Given the description of an element on the screen output the (x, y) to click on. 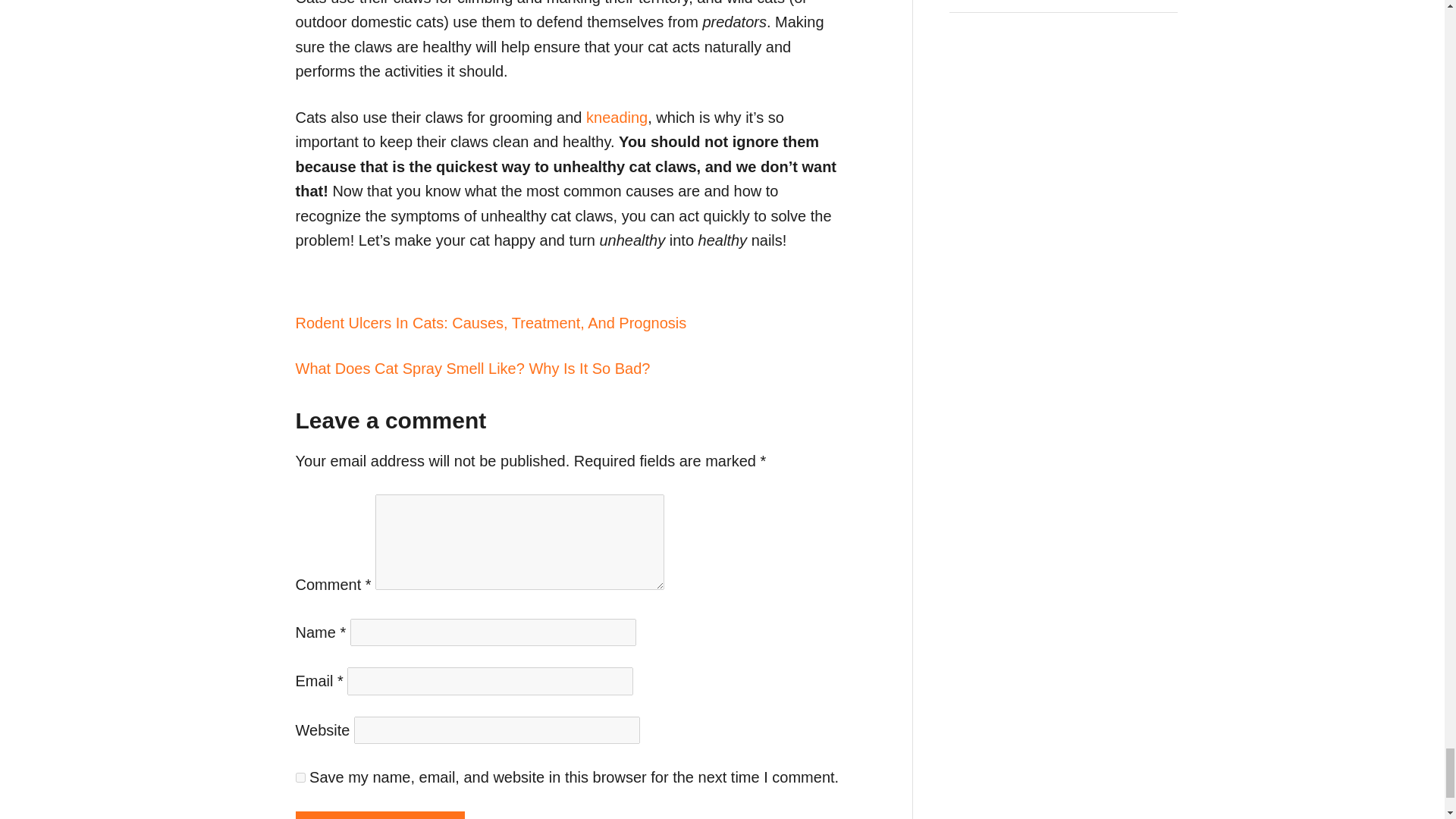
yes (300, 777)
Post Comment (379, 815)
kneading (613, 117)
Rodent Ulcers In Cats: Causes, Treatment, And Prognosis (571, 323)
What Does Cat Spray Smell Like? Why Is It So Bad? (571, 368)
Post Comment (379, 815)
